Given the description of an element on the screen output the (x, y) to click on. 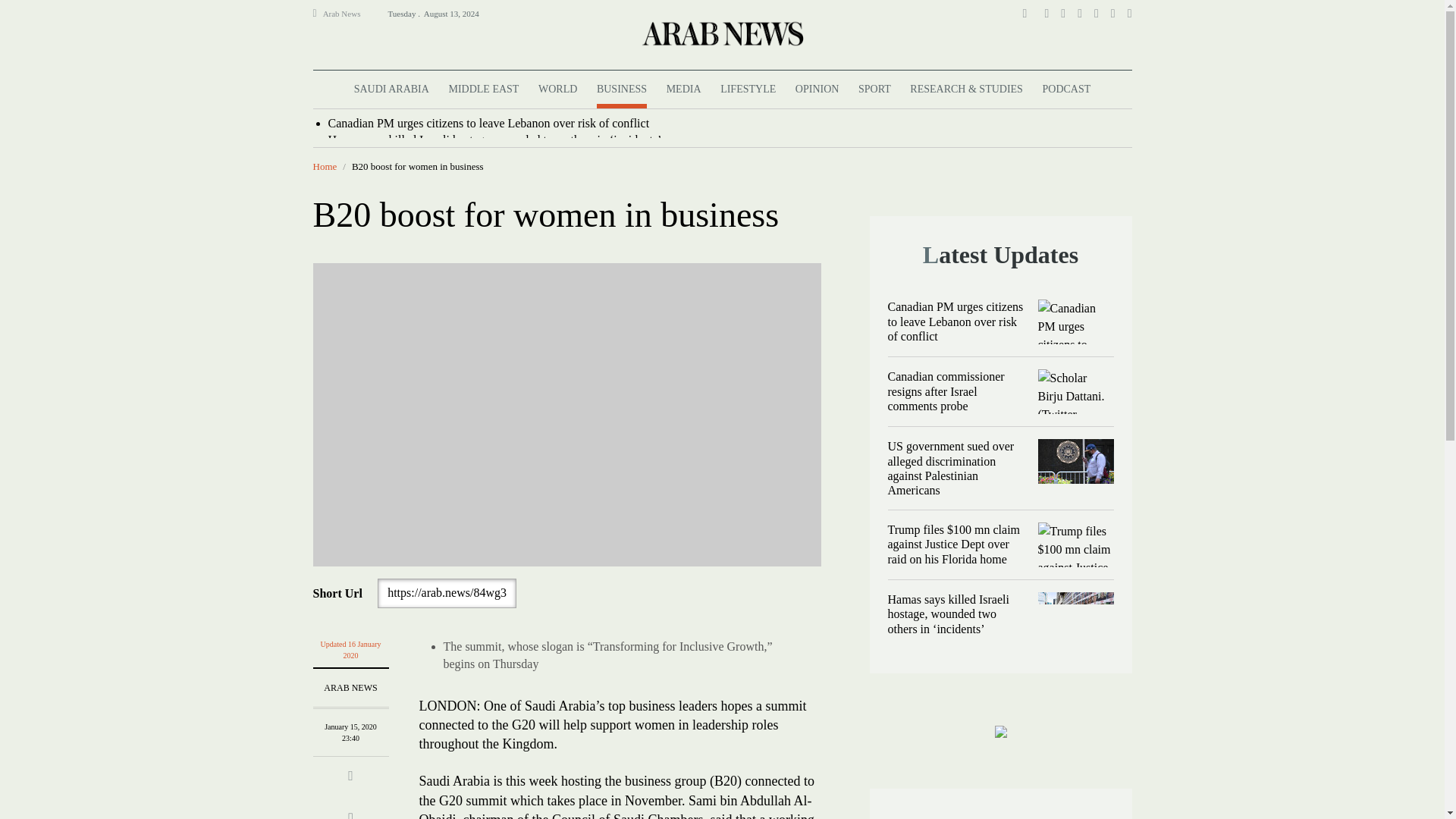
Arab News (348, 13)
Arabnews (721, 33)
